Given the description of an element on the screen output the (x, y) to click on. 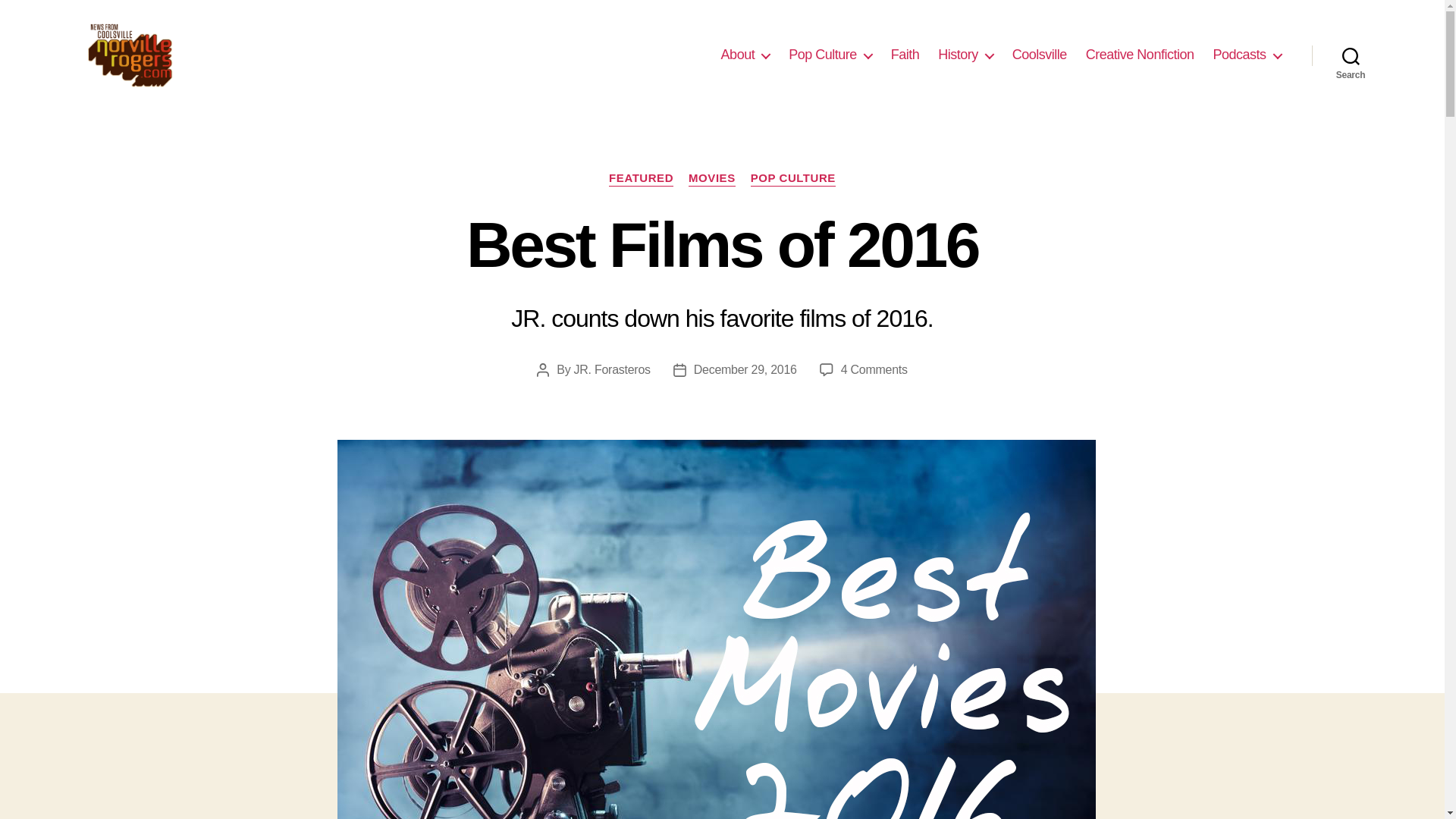
Podcasts (1246, 54)
History (964, 54)
Coolsville (1039, 54)
About (745, 54)
Pop Culture (830, 54)
Search (1350, 55)
Creative Nonfiction (1139, 54)
Faith (905, 54)
